Given the description of an element on the screen output the (x, y) to click on. 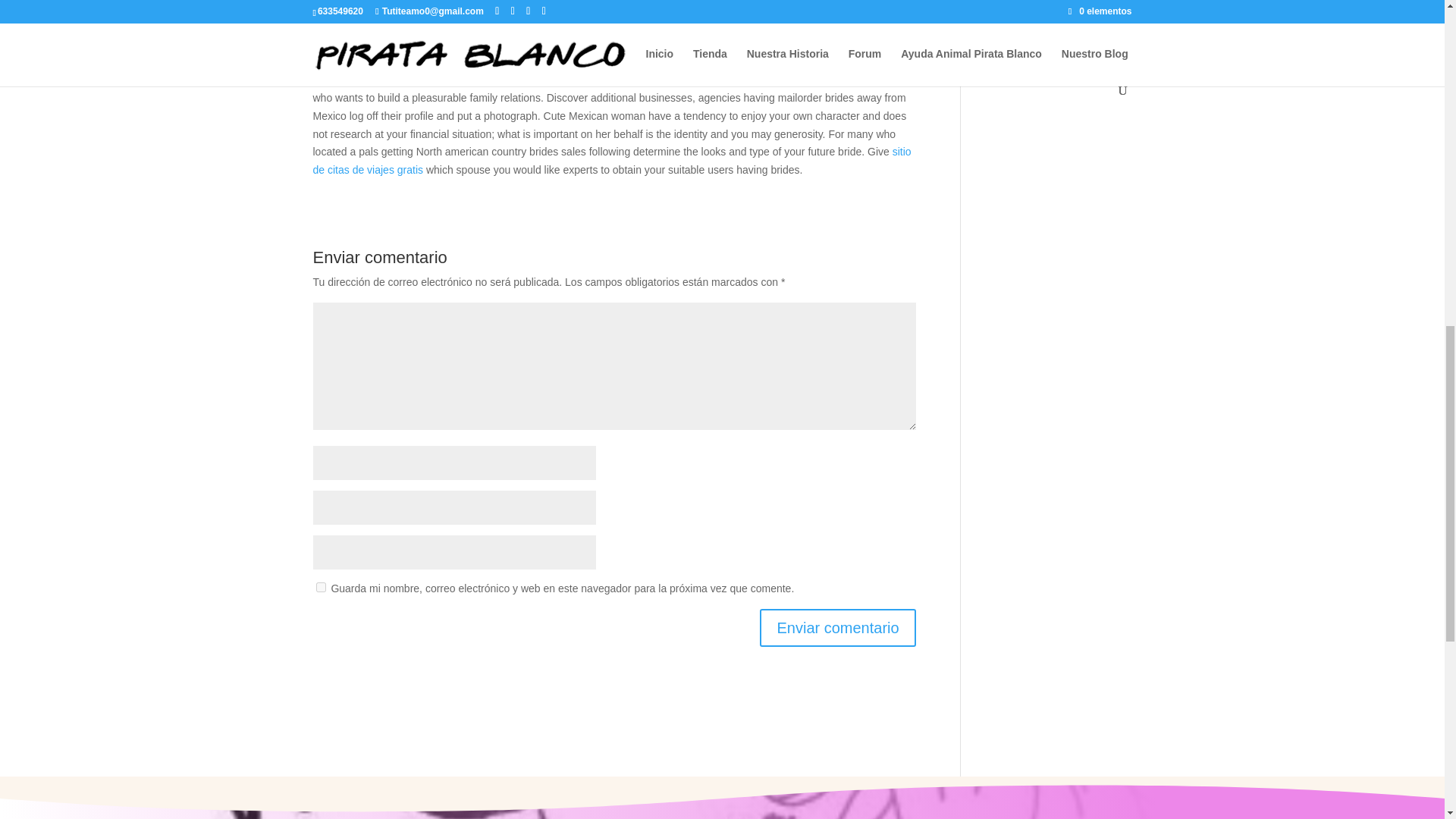
yes (319, 587)
Enviar comentario (837, 628)
sitio de citas de viajes gratis (612, 160)
Enviar comentario (837, 628)
